Given the description of an element on the screen output the (x, y) to click on. 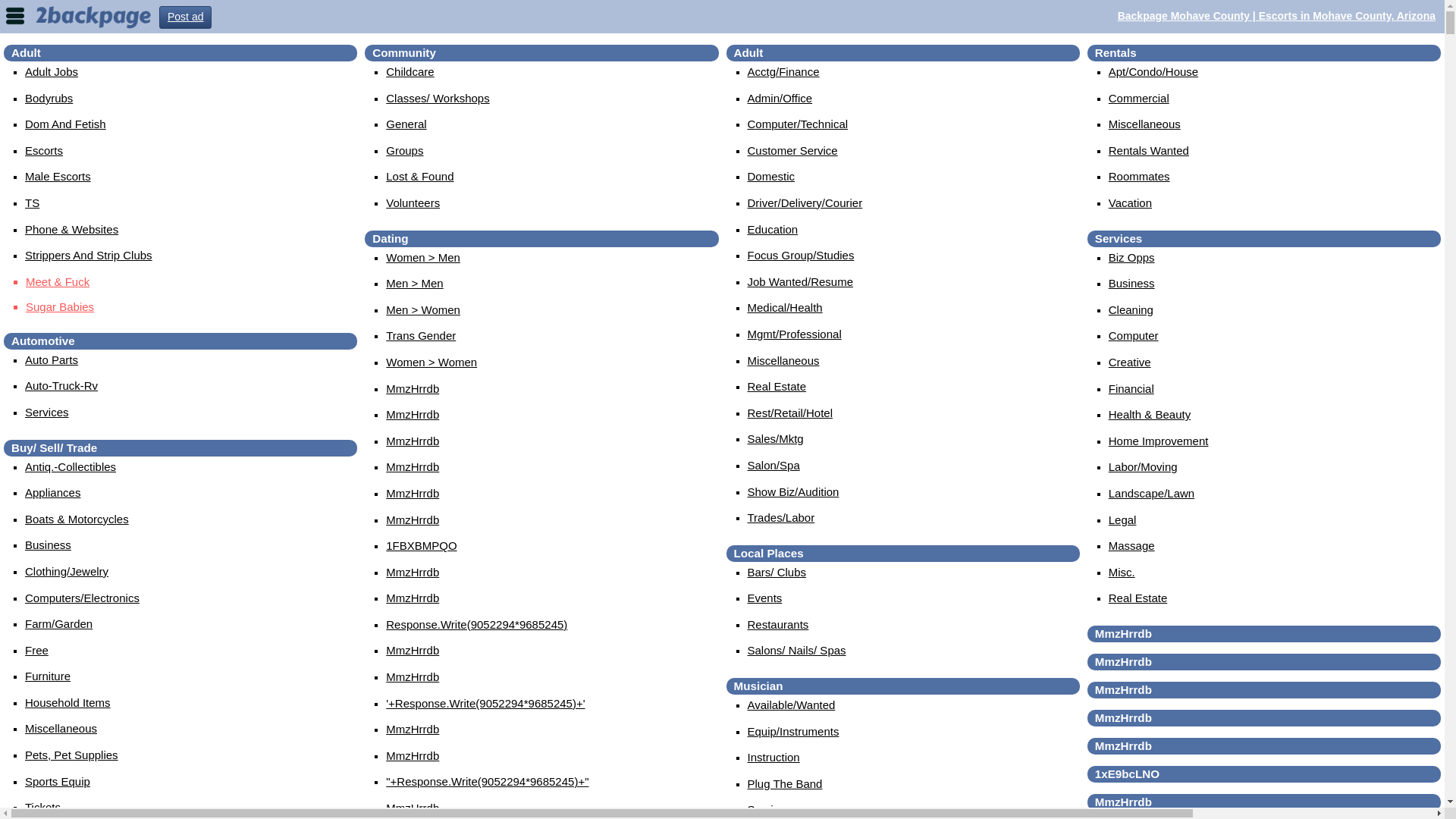
Trans Gender Element type: text (420, 335)
Sales/Mktg Element type: text (775, 438)
Legal Element type: text (1122, 518)
Dom And Fetish Element type: text (65, 123)
Education Element type: text (772, 228)
Backpage Mohave County | Escorts in Mohave County, Arizona Element type: text (1276, 15)
Furniture Element type: text (47, 675)
MmzHrrdb Element type: text (412, 440)
Bars/ Clubs Element type: text (776, 571)
Landscape/Lawn Element type: text (1151, 492)
Medical/Health Element type: text (784, 307)
Male Escorts Element type: text (58, 175)
Computers/Electronics Element type: text (82, 597)
Groups Element type: text (404, 150)
Real Estate Element type: text (776, 385)
Roommates Element type: text (1139, 175)
MmzHrrdb Element type: text (412, 388)
Restaurants Element type: text (778, 624)
MmzHrrdb Element type: text (412, 571)
Rest/Retail/Hotel Element type: text (790, 412)
Trades/Labor Element type: text (781, 517)
MmzHrrdb Element type: text (412, 755)
Available/Wanted Element type: text (791, 704)
Show Biz/Audition Element type: text (793, 491)
Salons/ Nails/ Spas Element type: text (796, 649)
MmzHrrdb Element type: text (412, 518)
SugAr BaBies Element type: text (191, 306)
Plug The Band Element type: text (784, 783)
Job Wanted/Resume Element type: text (800, 281)
Auto-Truck-Rv Element type: text (61, 385)
Domestic Element type: text (771, 175)
Driver/Delivery/Courier Element type: text (804, 202)
MmzHrrdb Element type: text (412, 492)
Customer Service Element type: text (792, 150)
Services Element type: text (47, 411)
MmzHrrdb Element type: text (412, 807)
Men > Men Element type: text (413, 282)
Women > Men Element type: text (422, 257)
'+response.Write(9052294*9685245)+' Element type: text (484, 702)
1FBXBMPQO Element type: text (420, 545)
Auto Parts Element type: text (51, 359)
Admin/Office Element type: text (779, 97)
Labor/Moving Element type: text (1142, 466)
2backpage Element type: hover (93, 15)
Real Estate Element type: text (1137, 597)
Miscellaneous Element type: text (61, 727)
MmzHrrdb Element type: text (412, 676)
Commercial Element type: text (1138, 97)
MmzHrrdb Element type: text (412, 728)
Volunteers Element type: text (412, 202)
Appliances Element type: text (52, 492)
Men > Women Element type: text (422, 309)
Farm/Garden Element type: text (58, 623)
"+response.Write(9052294*9685245)+" Element type: text (486, 781)
Miscellaneous Element type: text (1144, 123)
Services Element type: text (769, 809)
Pets, Pet Supplies Element type: text (71, 754)
Women > Women Element type: text (430, 361)
Strippers And Strip Clubs Element type: text (88, 254)
Sports Equip Element type: text (57, 781)
MmzHrrdb Element type: text (412, 597)
Business Element type: text (1131, 282)
Health & Beauty Element type: text (1149, 413)
Computer Element type: text (1133, 335)
Vacation Element type: text (1129, 202)
Massage Element type: text (1131, 545)
Mgmt/Professional Element type: text (794, 333)
Clothing/Jewelry Element type: text (66, 570)
Household Items Element type: text (67, 702)
Bodyrubs Element type: text (48, 97)
MeeT & FuCk Element type: text (191, 281)
Post ad Element type: text (185, 17)
Misc. Element type: text (1121, 571)
Escorts Element type: text (43, 150)
nav Element type: text (15, 15)
Acctg/Finance Element type: text (783, 71)
Home Improvement Element type: text (1158, 440)
Free Element type: text (36, 649)
Antiq.-Collectibles Element type: text (70, 466)
Tickets Element type: text (42, 806)
Boats & Motorcycles Element type: text (76, 518)
Salon/Spa Element type: text (773, 464)
Classes/ Workshops Element type: text (437, 97)
Events Element type: text (764, 597)
TS Element type: text (32, 202)
Response.Write(9052294*9685245) Element type: text (476, 624)
Business Element type: text (48, 544)
Lost & Found Element type: text (419, 175)
Financial Element type: text (1131, 388)
Biz Opps Element type: text (1131, 257)
MmzHrrdb Element type: text (412, 413)
Adult Jobs Element type: text (51, 71)
Apt/Condo/House Element type: text (1153, 71)
Creative Element type: text (1129, 361)
Childcare Element type: text (409, 71)
Cleaning Element type: text (1130, 309)
General Element type: text (405, 123)
Phone & Websites Element type: text (71, 228)
Miscellaneous Element type: text (783, 360)
Computer/Technical Element type: text (797, 123)
Equip/Instruments Element type: text (793, 730)
MmzHrrdb Element type: text (412, 466)
Focus Group/Studies Element type: text (800, 254)
MmzHrrdb Element type: text (412, 649)
Rentals Wanted Element type: text (1148, 150)
Instruction Element type: text (773, 756)
